Given the description of an element on the screen output the (x, y) to click on. 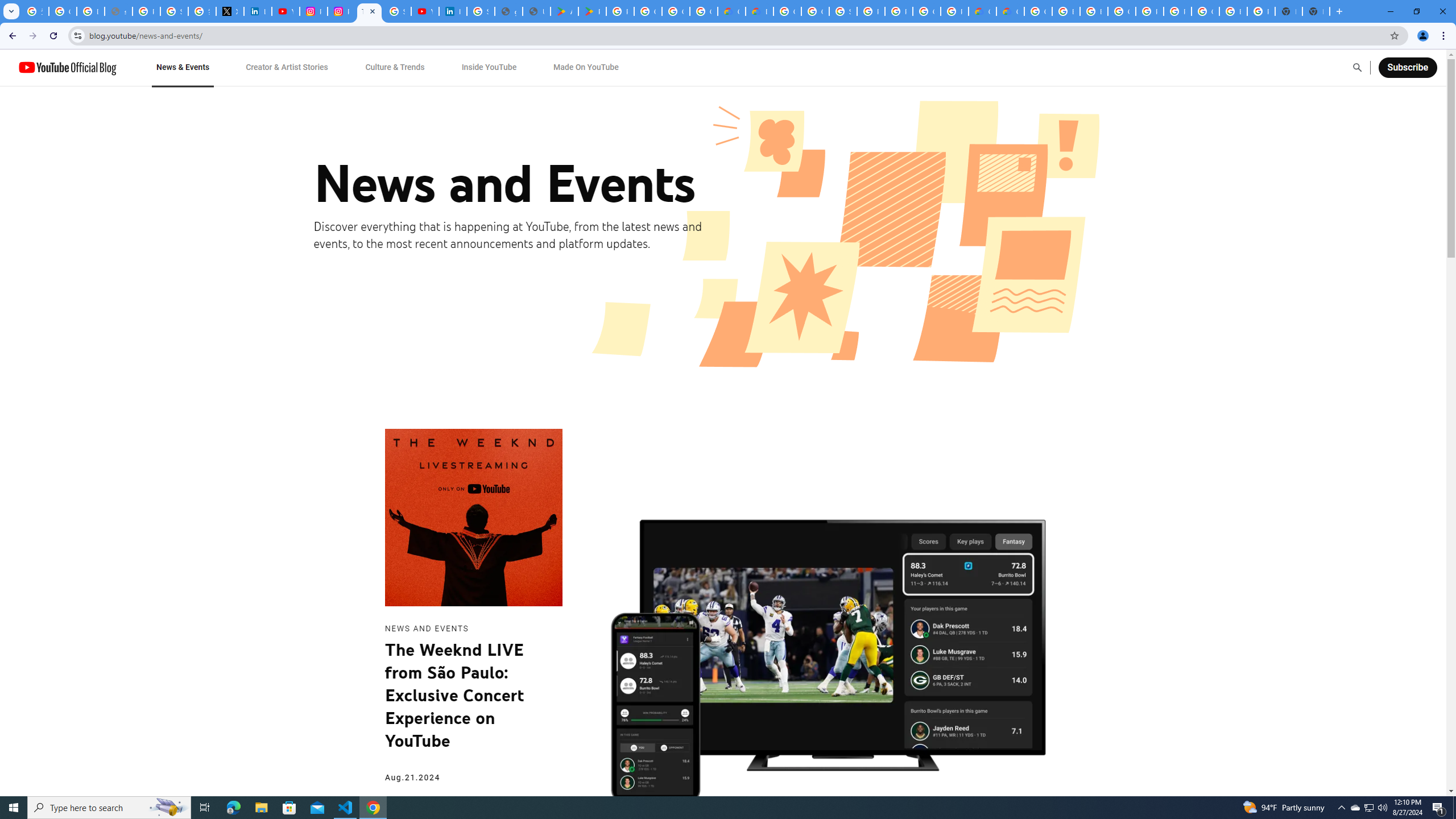
PAW Patrol Rescue World - Apps on Google Play (592, 11)
Culture & Trends (395, 67)
Android Apps on Google Play (564, 11)
LinkedIn Privacy Policy (257, 11)
Sign in - Google Accounts (480, 11)
Browse Chrome as a guest - Computer - Google Chrome Help (1093, 11)
Subscribe (1407, 67)
Open Search (1357, 67)
